Given the description of an element on the screen output the (x, y) to click on. 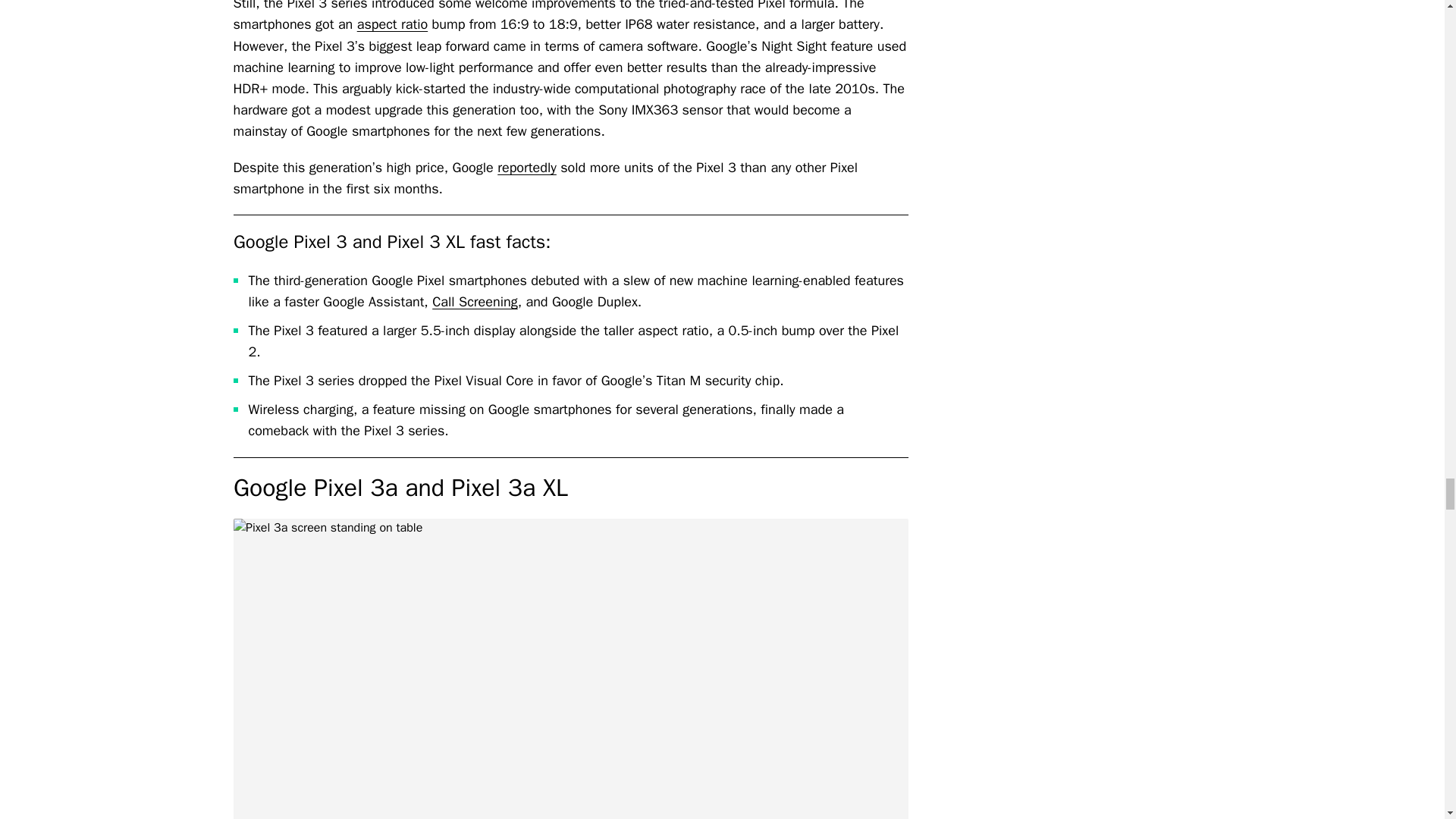
aspect ratio (392, 23)
reportedly (526, 167)
